Given the description of an element on the screen output the (x, y) to click on. 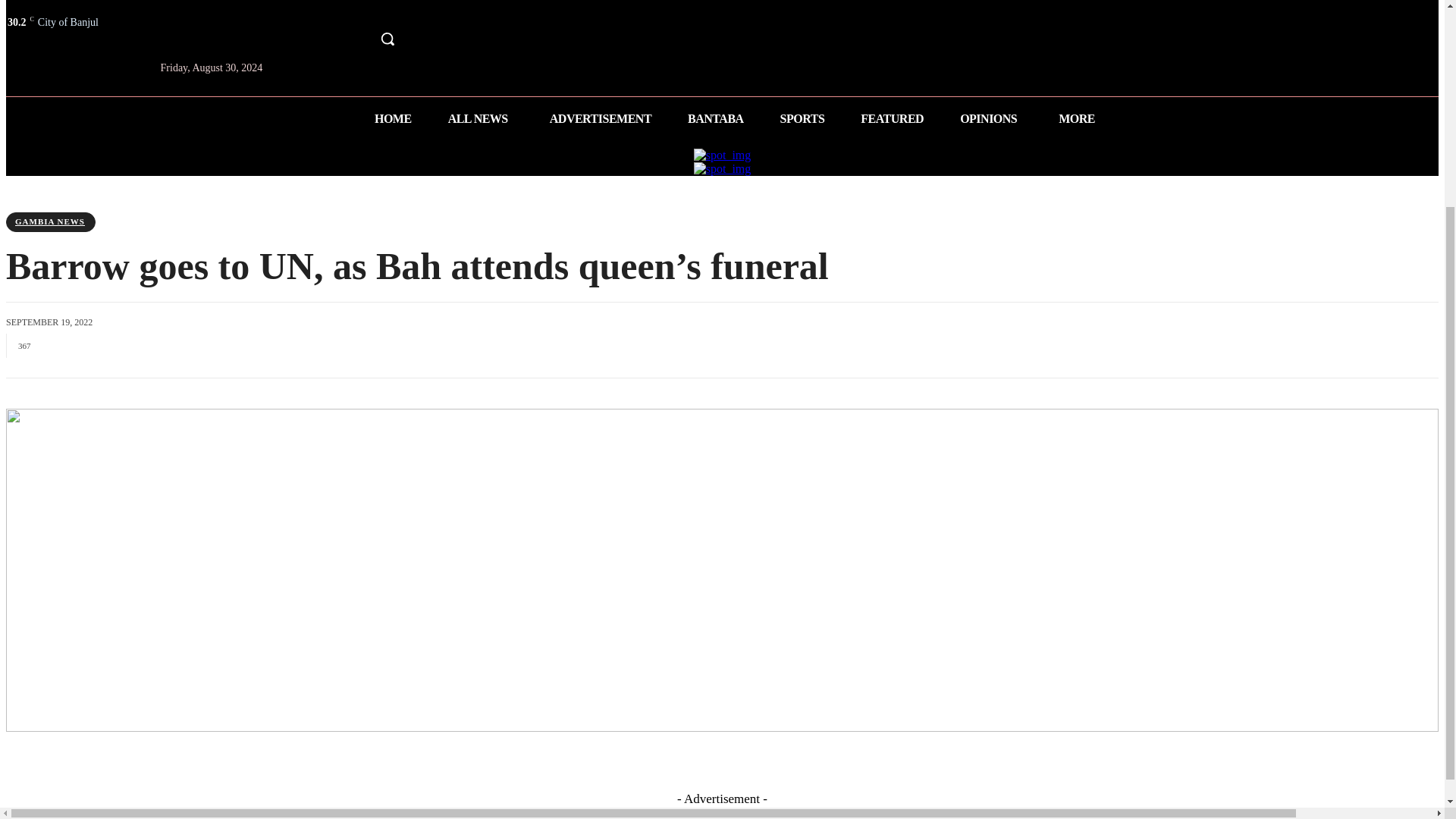
Facebook (334, 7)
Twitter (362, 7)
Youtube (390, 7)
HOME (392, 118)
ALL NEWS (480, 118)
